Given the description of an element on the screen output the (x, y) to click on. 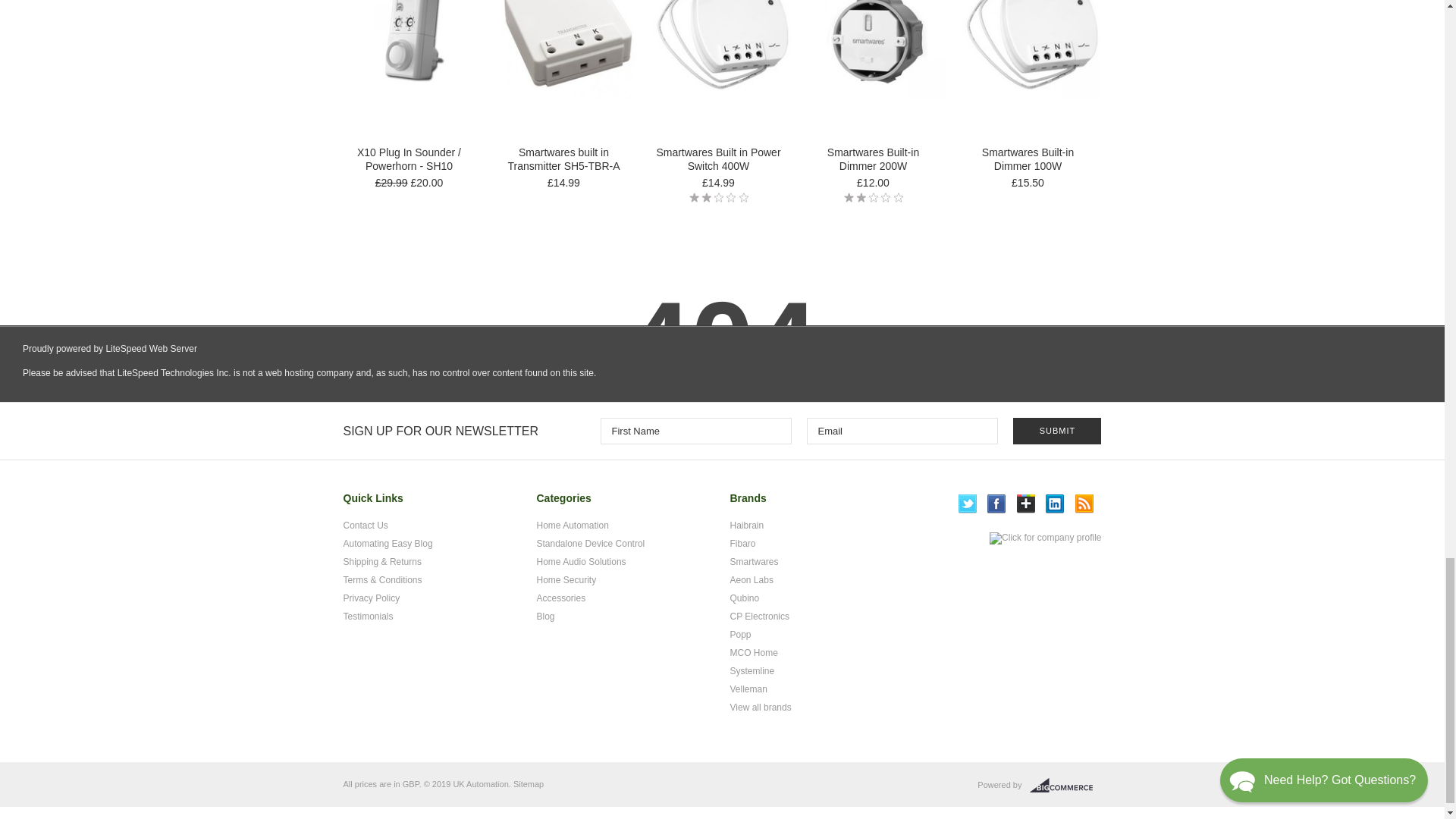
Submit (1056, 430)
RSS (1084, 503)
British Pounds (411, 783)
Email (901, 430)
GooglePlus (1025, 503)
First Name (695, 430)
Twitter (967, 503)
Facebook (996, 503)
LinkedIn (1054, 503)
